Given the description of an element on the screen output the (x, y) to click on. 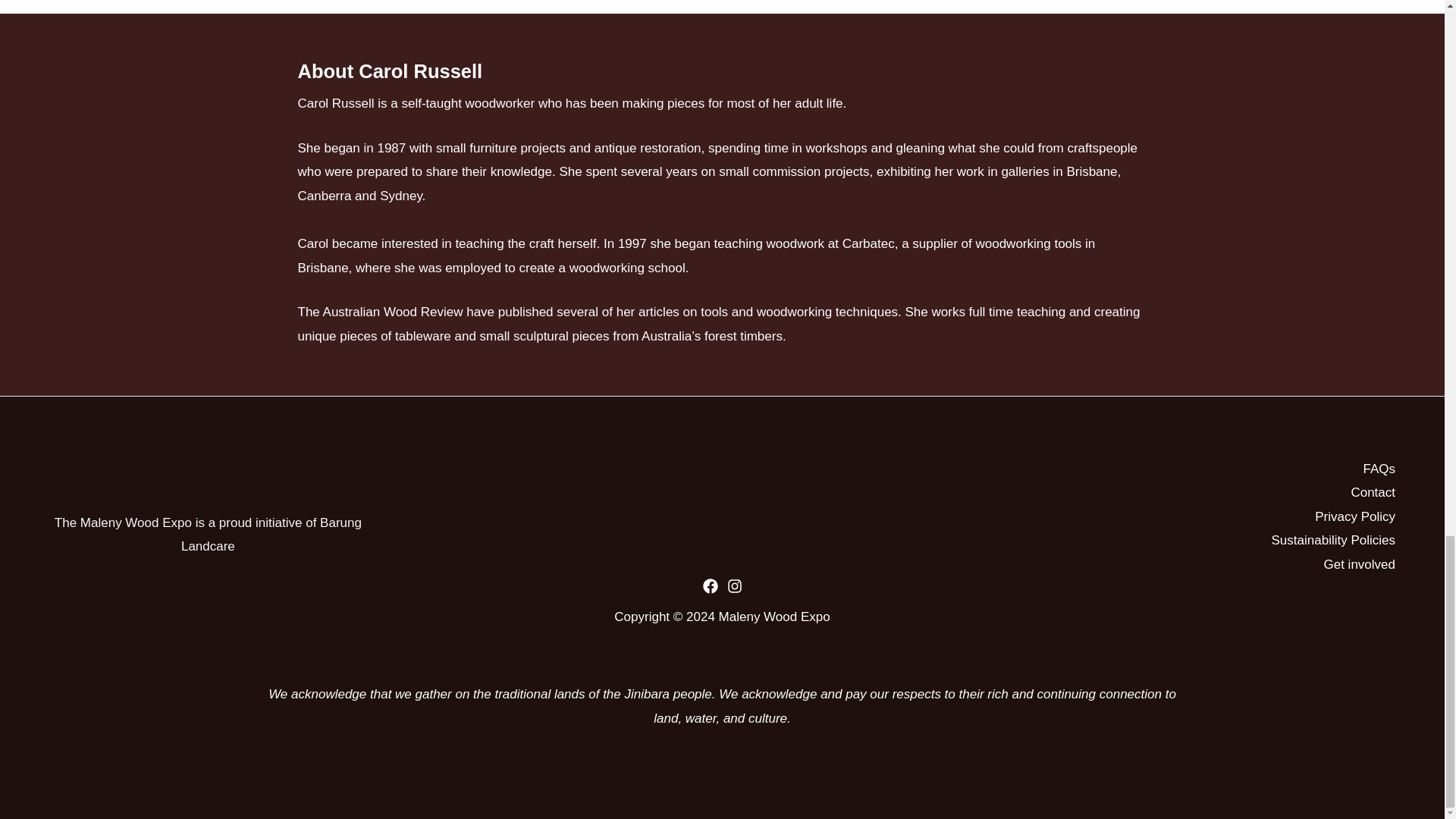
Sustainability Policies (1332, 540)
Contact (1372, 492)
Privacy Policy (1354, 517)
FAQs (1378, 469)
